Given the description of an element on the screen output the (x, y) to click on. 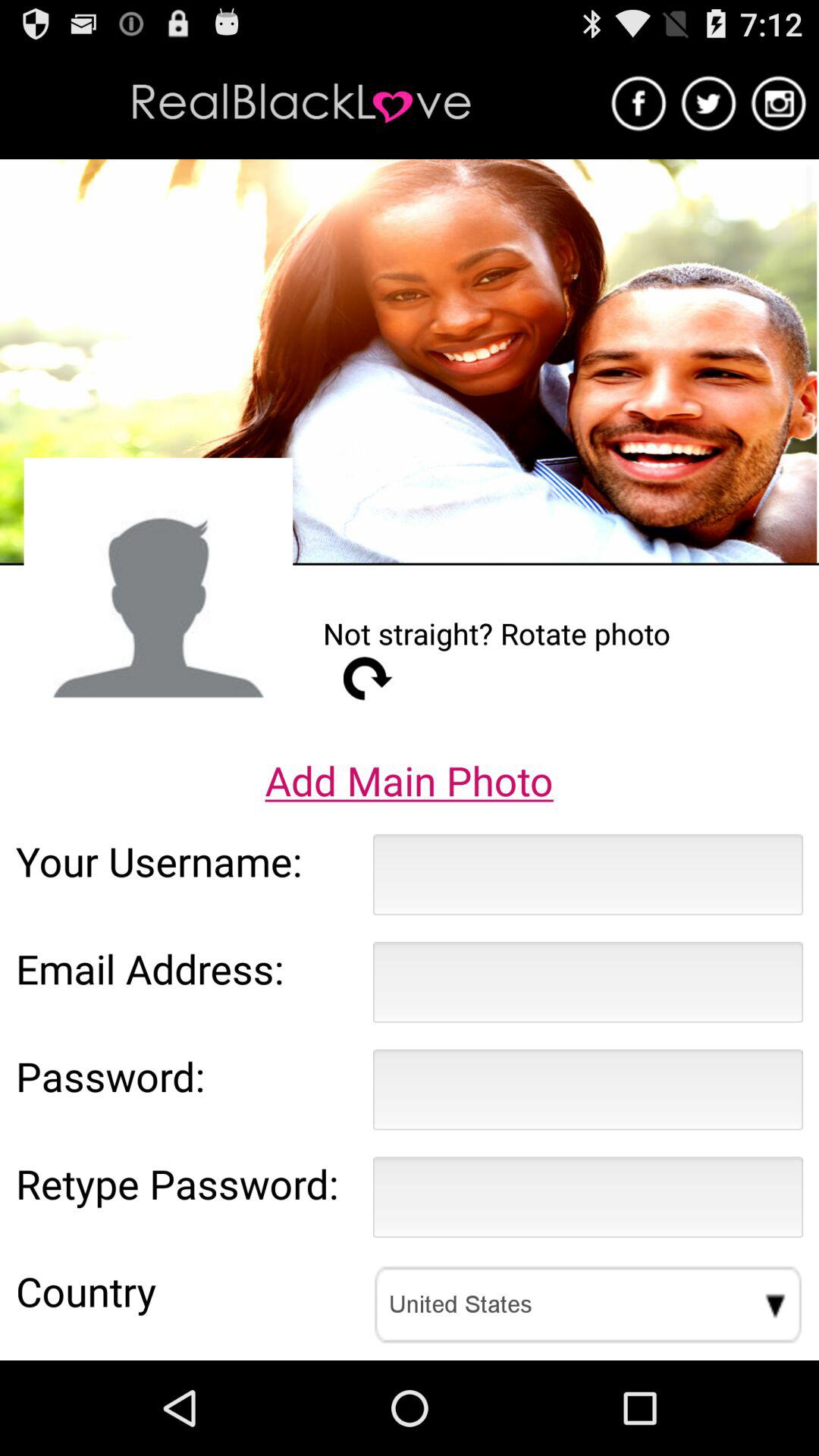
swipe until add main photo item (409, 780)
